Given the description of an element on the screen output the (x, y) to click on. 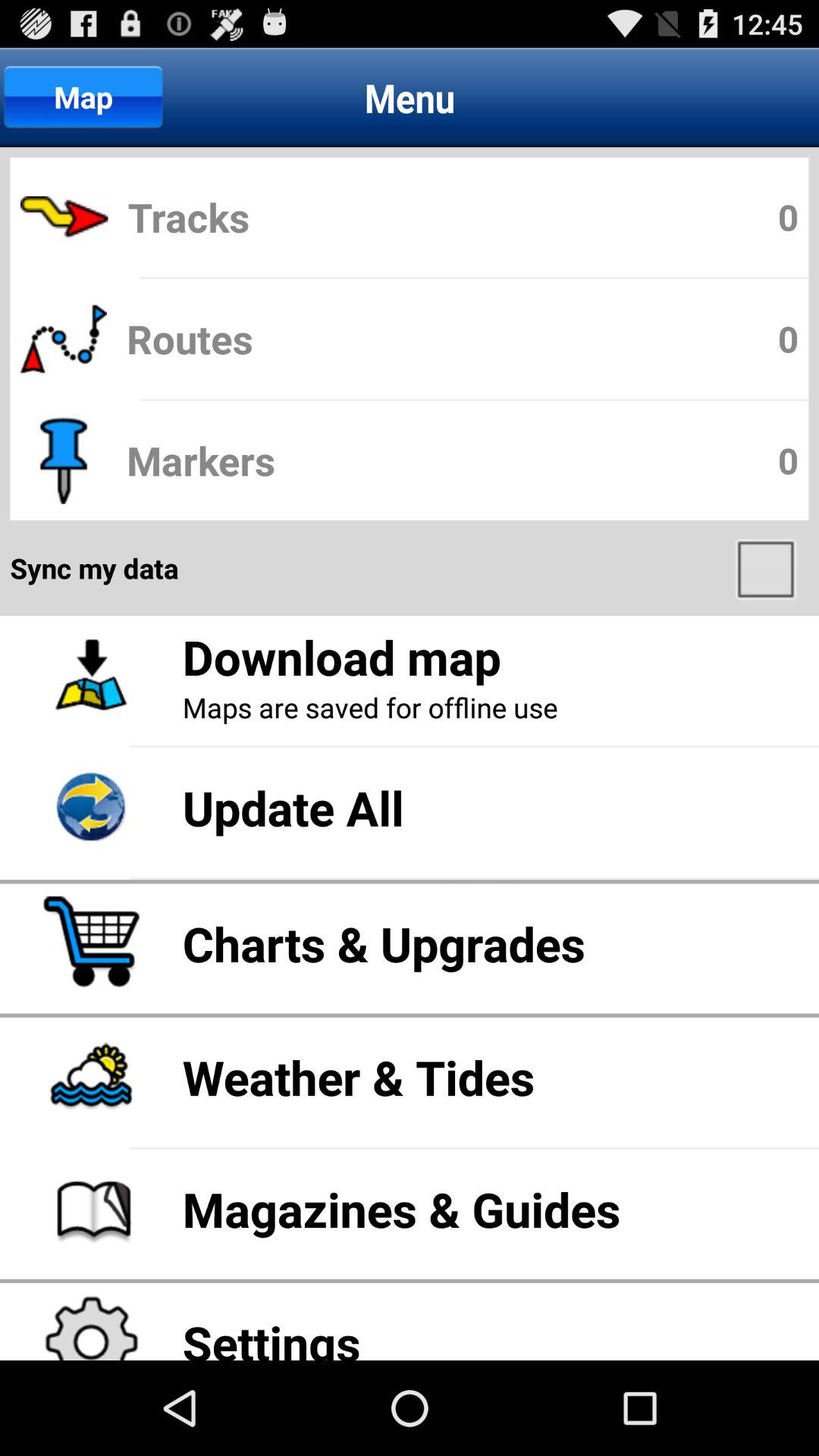
click the icon next to the sync my data app (767, 567)
